Given the description of an element on the screen output the (x, y) to click on. 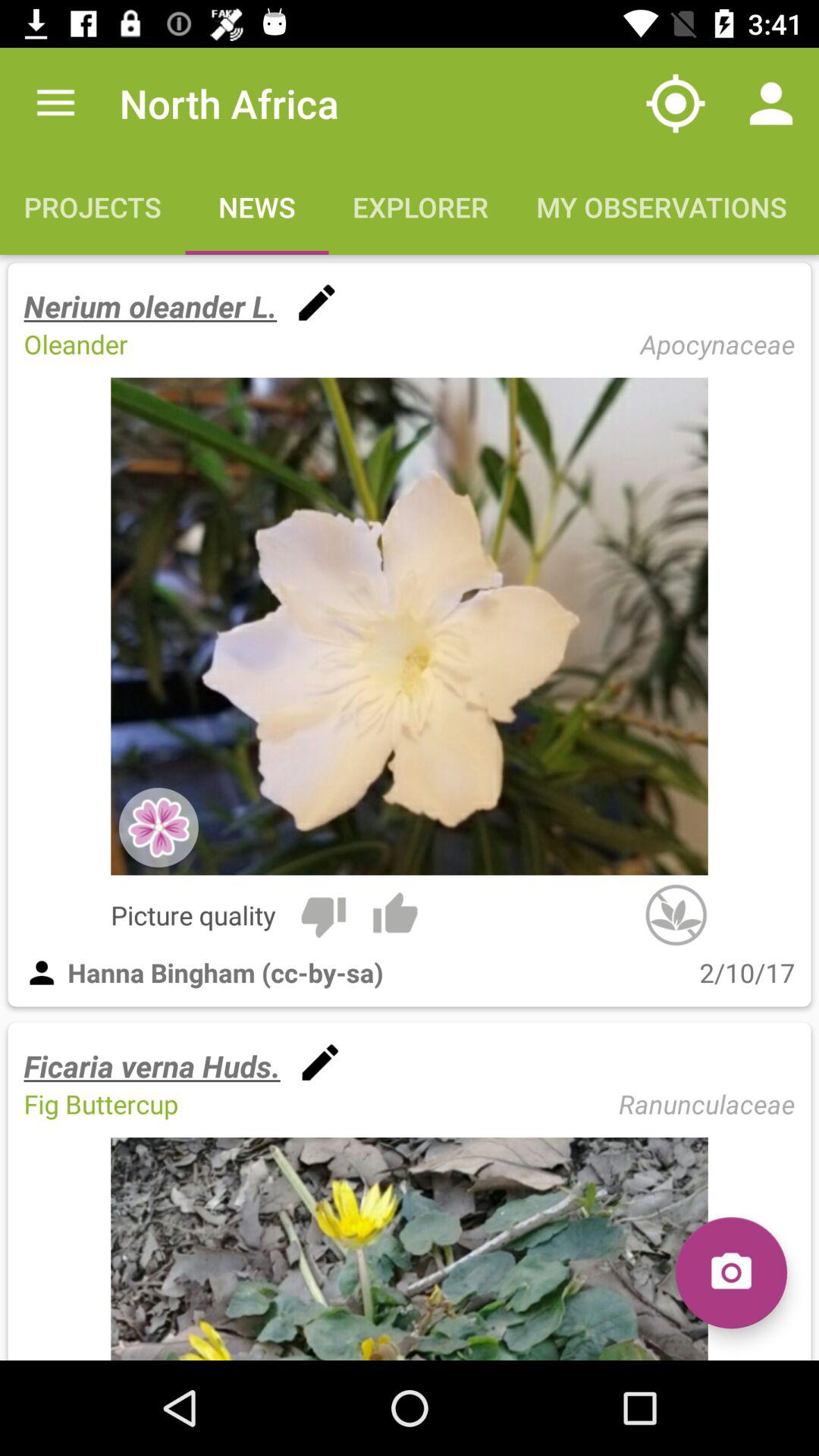
turn off the item to the right of north africa (675, 103)
